Given the description of an element on the screen output the (x, y) to click on. 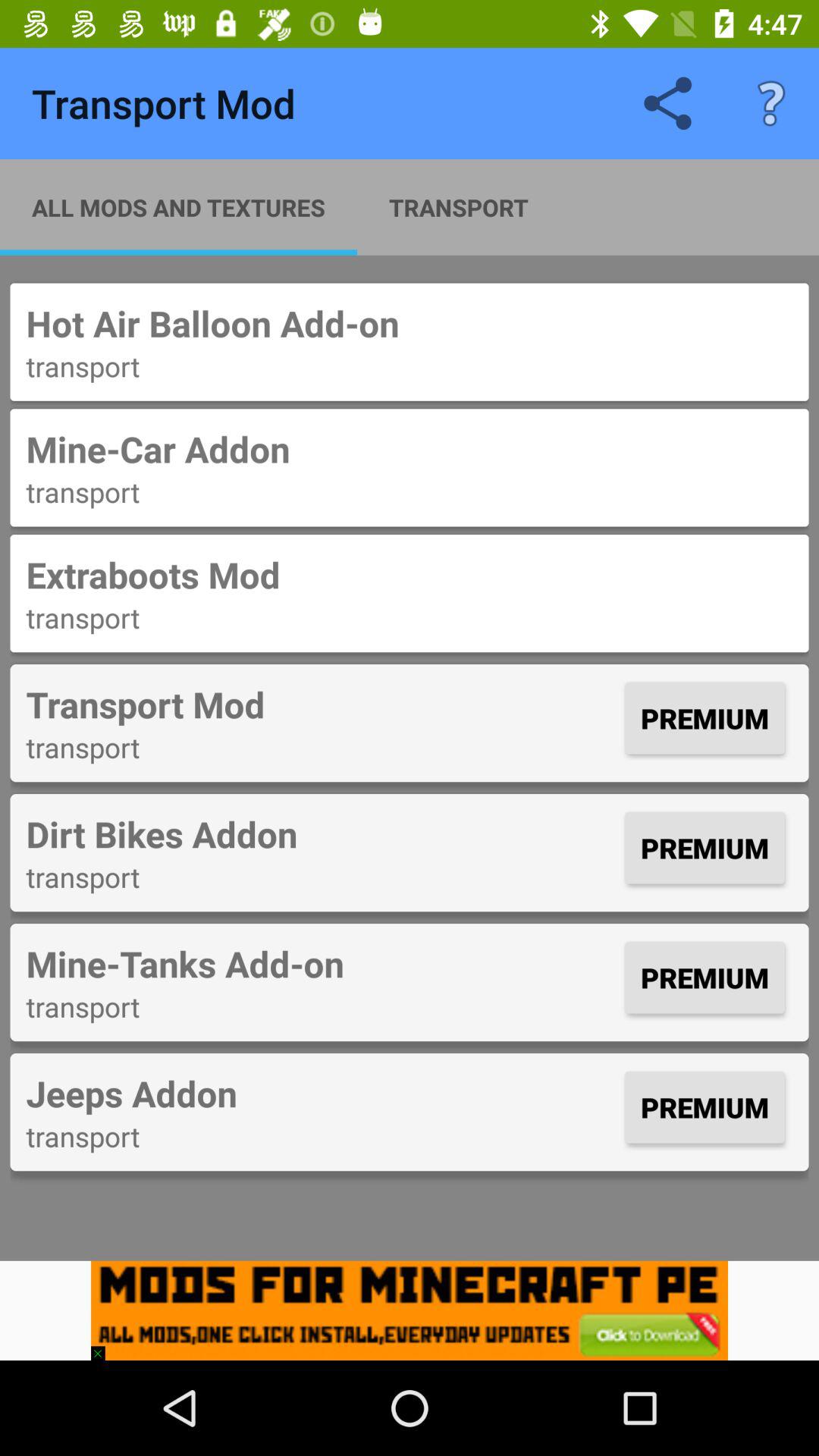
turn on the item below the transport (409, 1310)
